Given the description of an element on the screen output the (x, y) to click on. 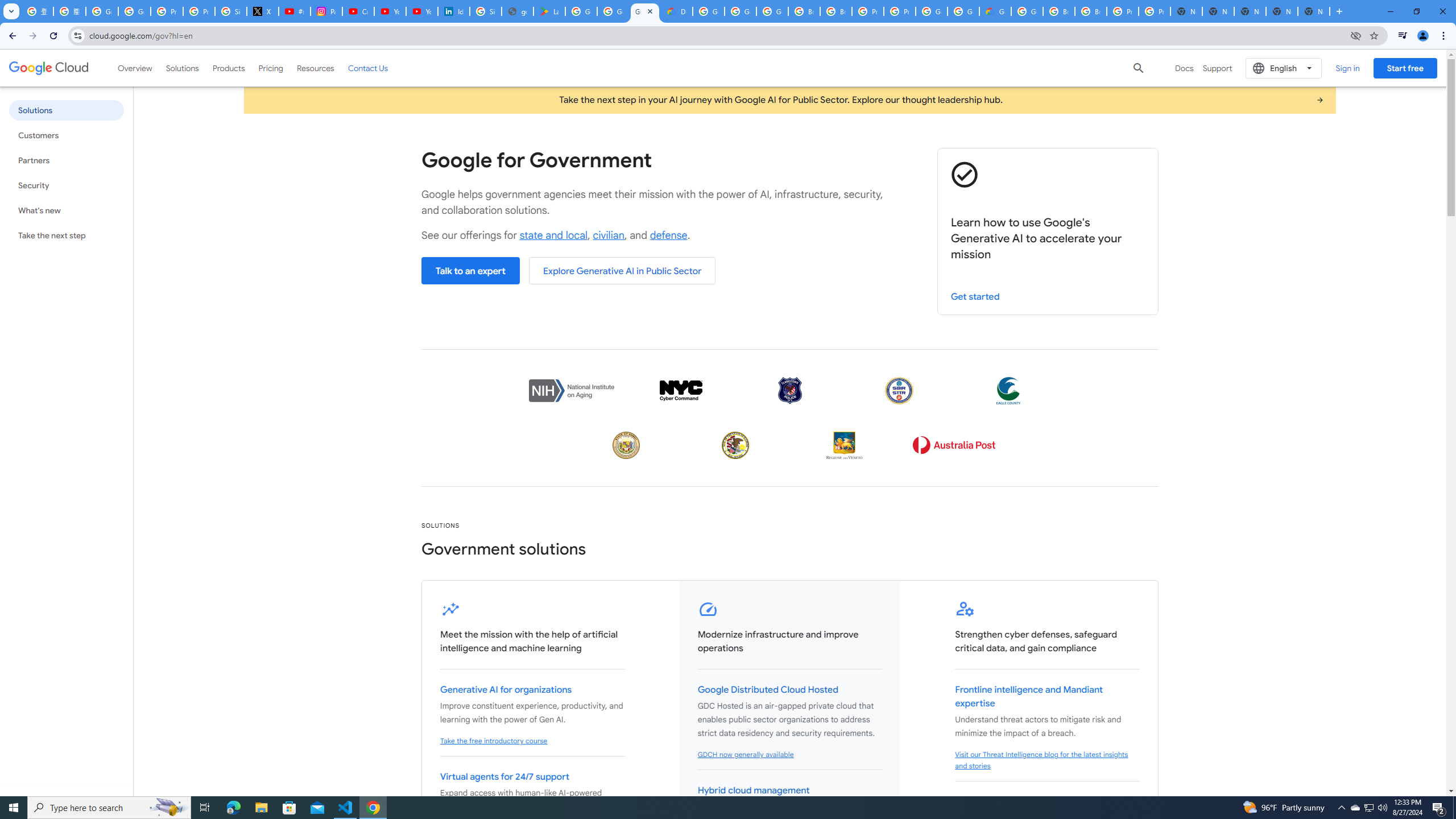
Take the next step (65, 235)
Sign in - Google Accounts (230, 11)
Pricing (270, 67)
Browse Chrome as a guest - Computer - Google Chrome Help (804, 11)
Eagle County (1008, 390)
